Given the description of an element on the screen output the (x, y) to click on. 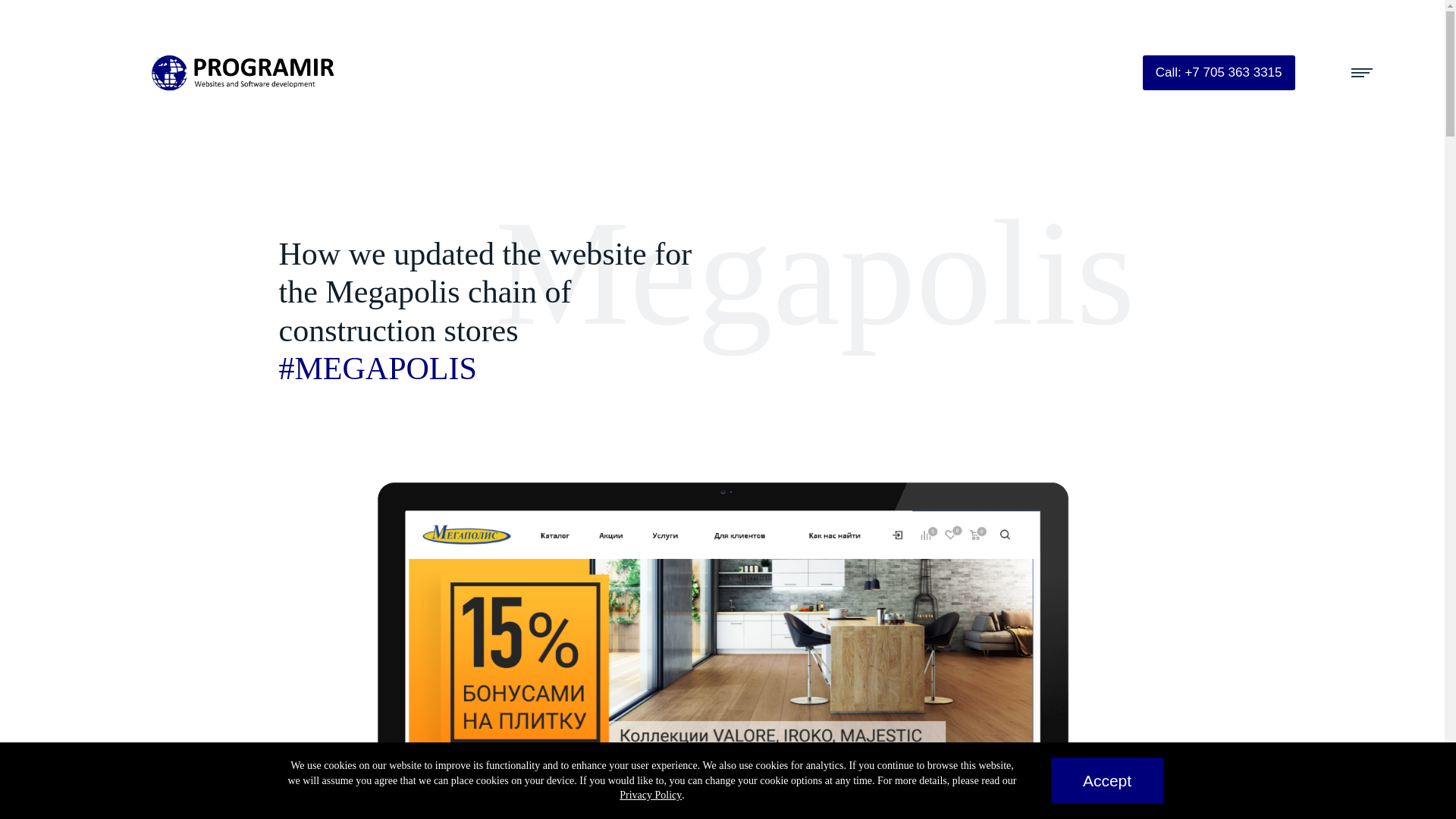
Accept (1107, 780)
Privacy Policy (650, 794)
